Given the description of an element on the screen output the (x, y) to click on. 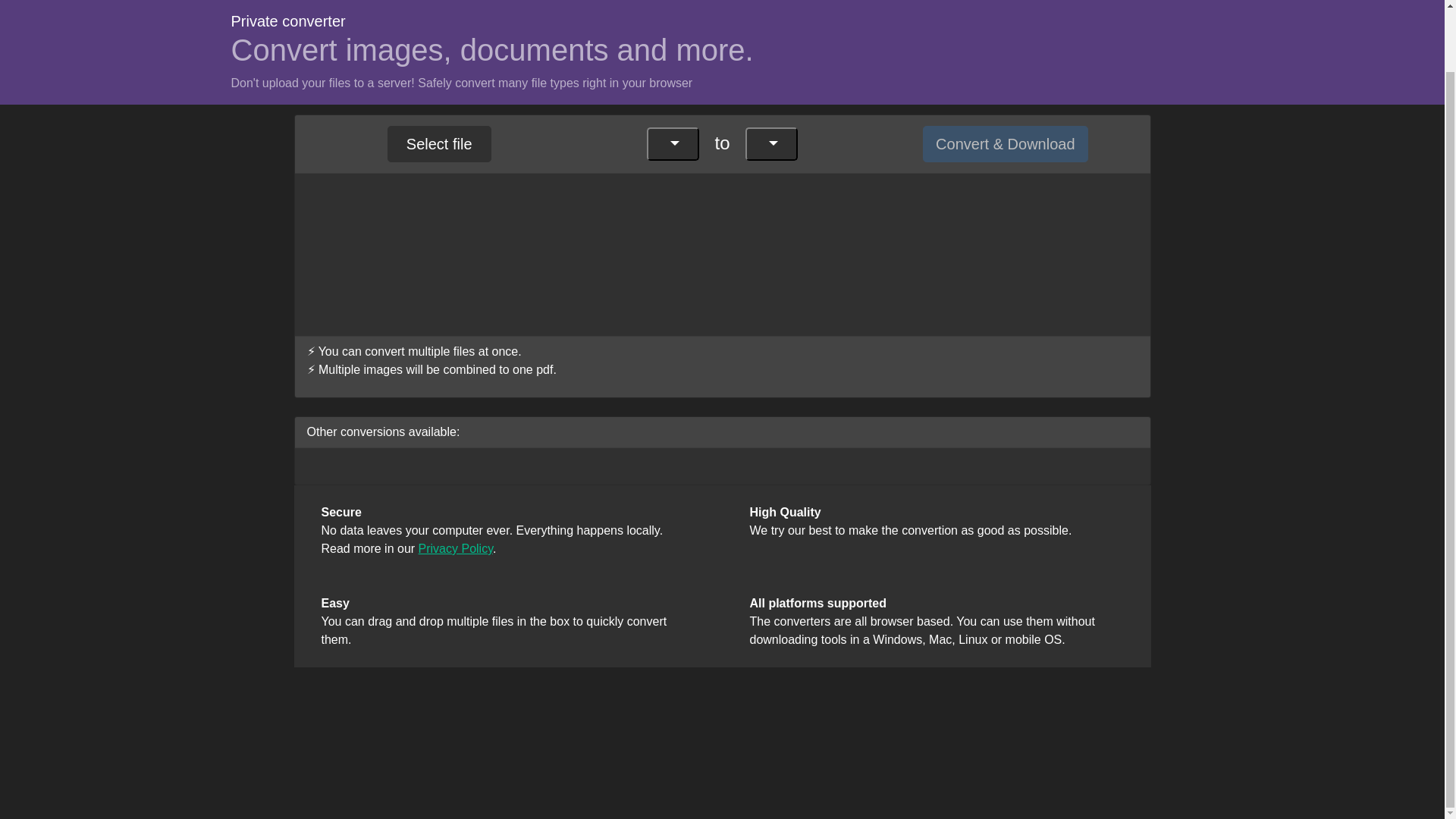
Privacy Policy (456, 548)
on (639, 66)
on (639, 66)
